Given the description of an element on the screen output the (x, y) to click on. 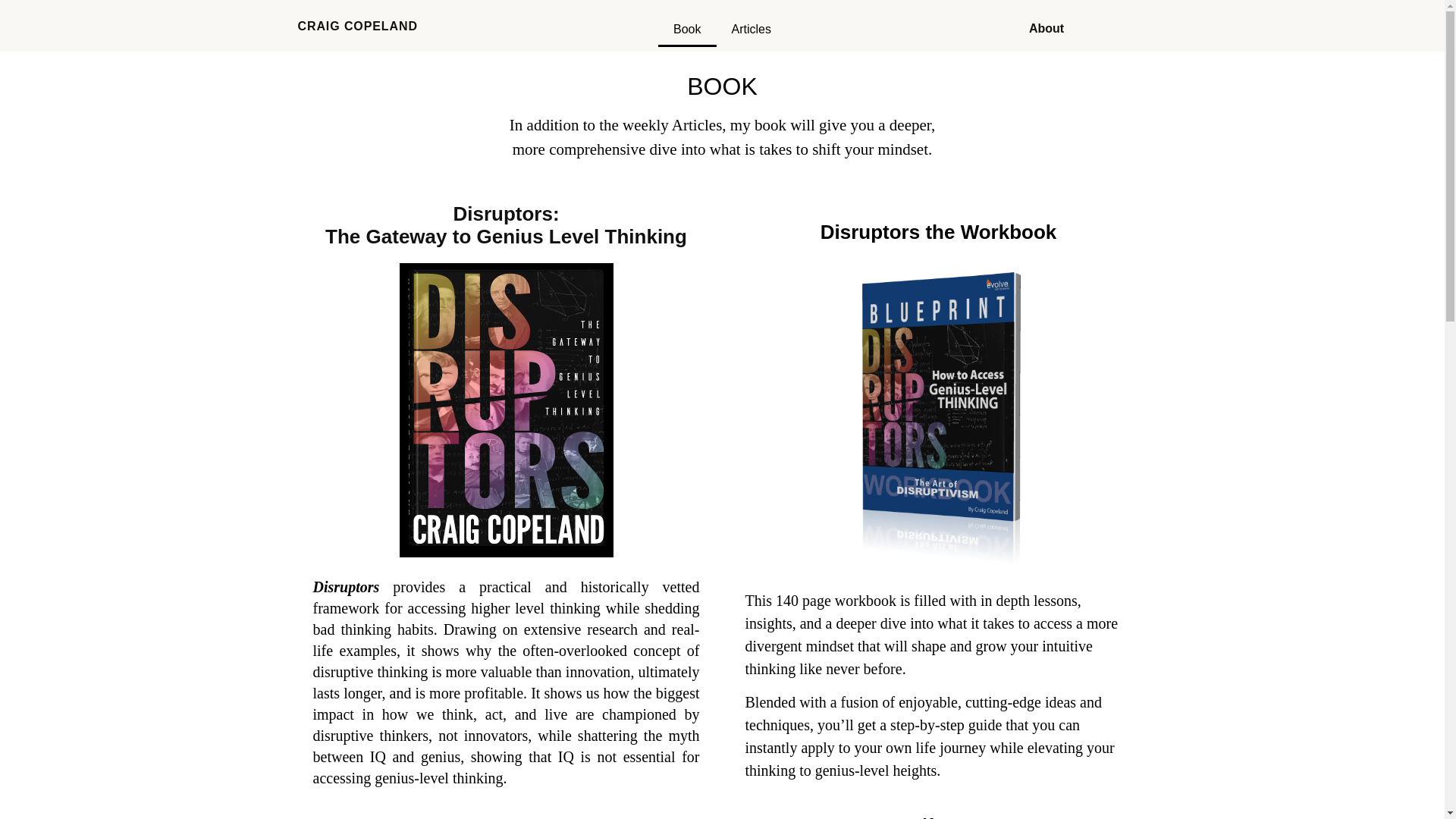
Articles (751, 29)
CRAIG COPELAND (356, 25)
Book (687, 29)
About (1046, 28)
